Given the description of an element on the screen output the (x, y) to click on. 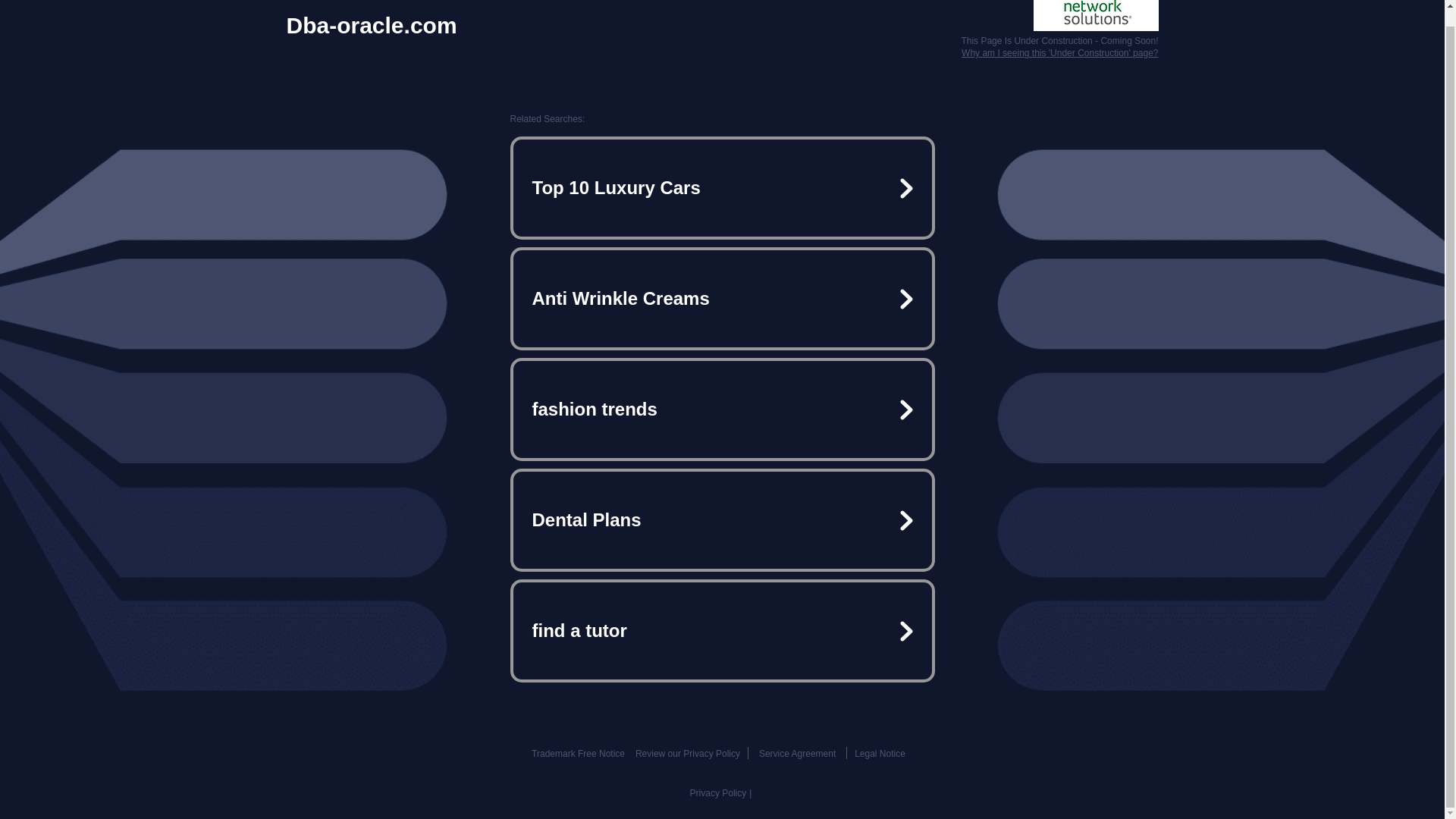
Top 10 Luxury Cars (721, 187)
fashion trends (721, 409)
Dental Plans (721, 519)
Legal Notice (879, 753)
Why am I seeing this 'Under Construction' page? (1058, 52)
Review our Privacy Policy (686, 753)
find a tutor (721, 630)
Service Agreement (796, 753)
Anti Wrinkle Creams (721, 298)
Top 10 Luxury Cars (721, 187)
Anti Wrinkle Creams (721, 298)
Dba-oracle.com (371, 25)
Dental Plans (721, 519)
Trademark Free Notice (577, 753)
Privacy Policy (718, 792)
